Given the description of an element on the screen output the (x, y) to click on. 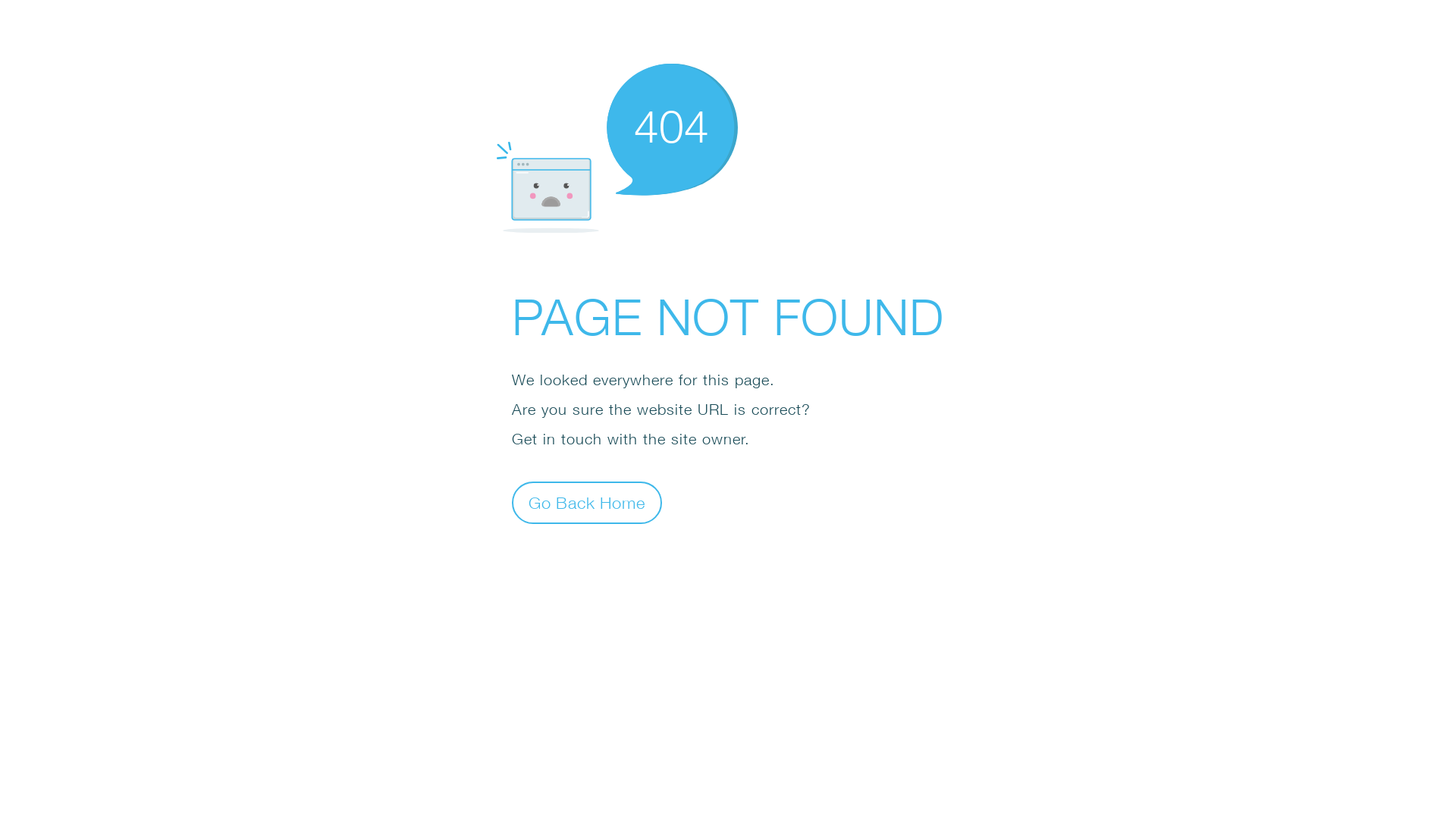
Go Back Home Element type: text (586, 502)
